Given the description of an element on the screen output the (x, y) to click on. 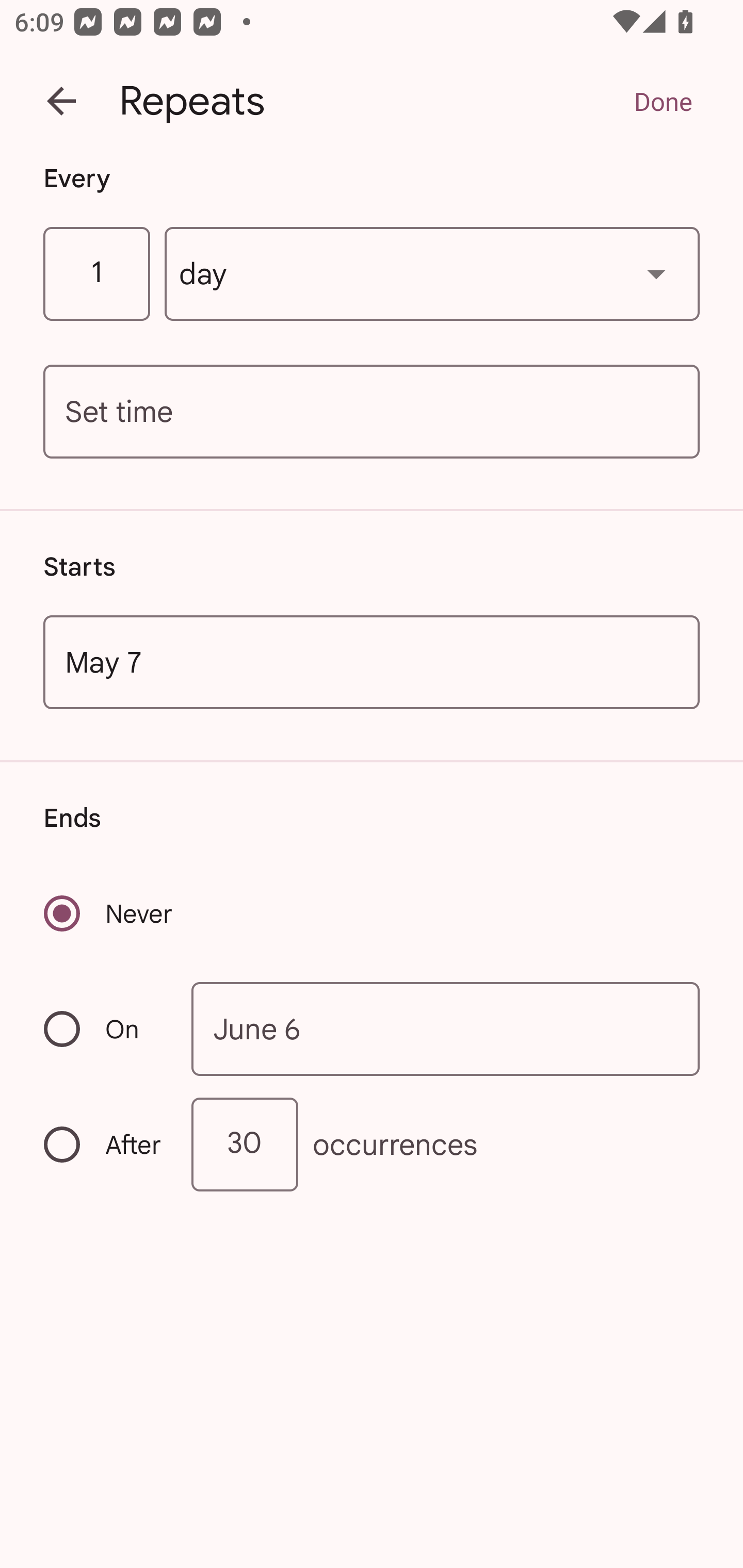
Back (61, 101)
Done (663, 101)
1 (96, 274)
day (431, 274)
Show dropdown menu (655, 273)
Set time (371, 411)
May 7 (371, 661)
Never Recurrence never ends (109, 913)
June 6 (445, 1028)
On Recurrence ends on a specific date (104, 1029)
30 (244, 1144)
